Given the description of an element on the screen output the (x, y) to click on. 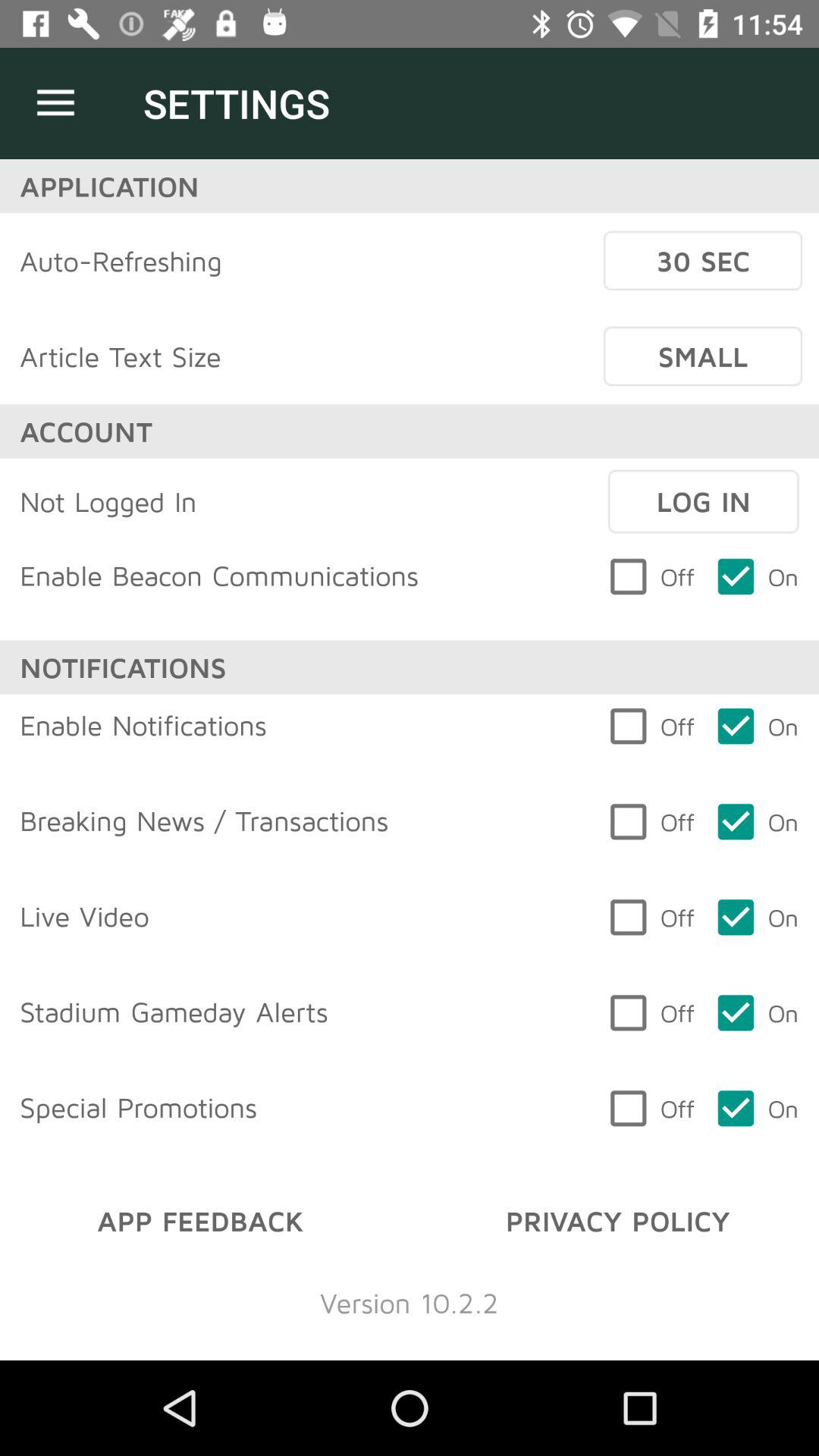
turn on item above off item (703, 501)
